Given the description of an element on the screen output the (x, y) to click on. 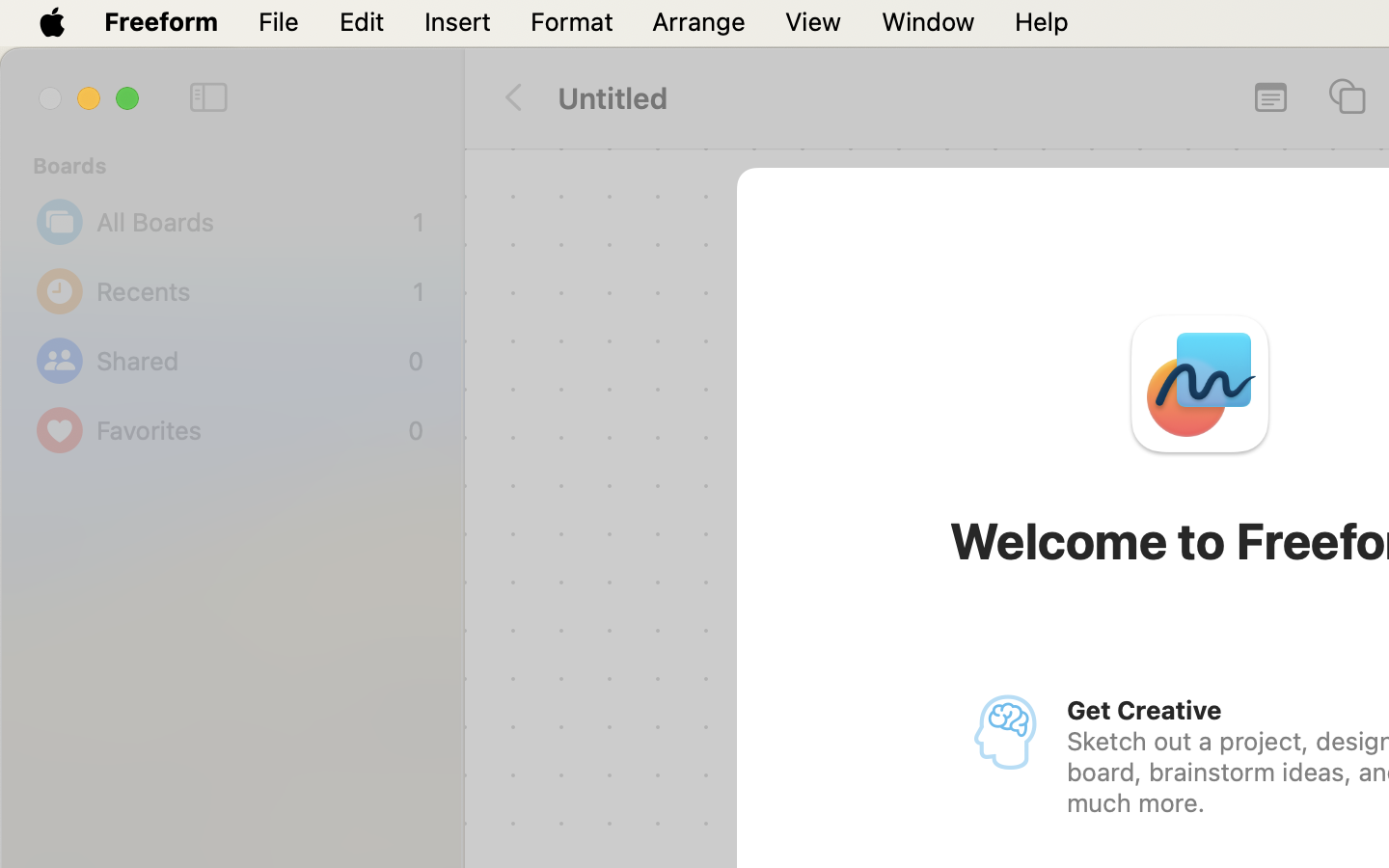
Recents Element type: AXStaticText (249, 290)
Shared Element type: AXStaticText (246, 360)
Untitled Element type: AXStaticText (613, 97)
